Given the description of an element on the screen output the (x, y) to click on. 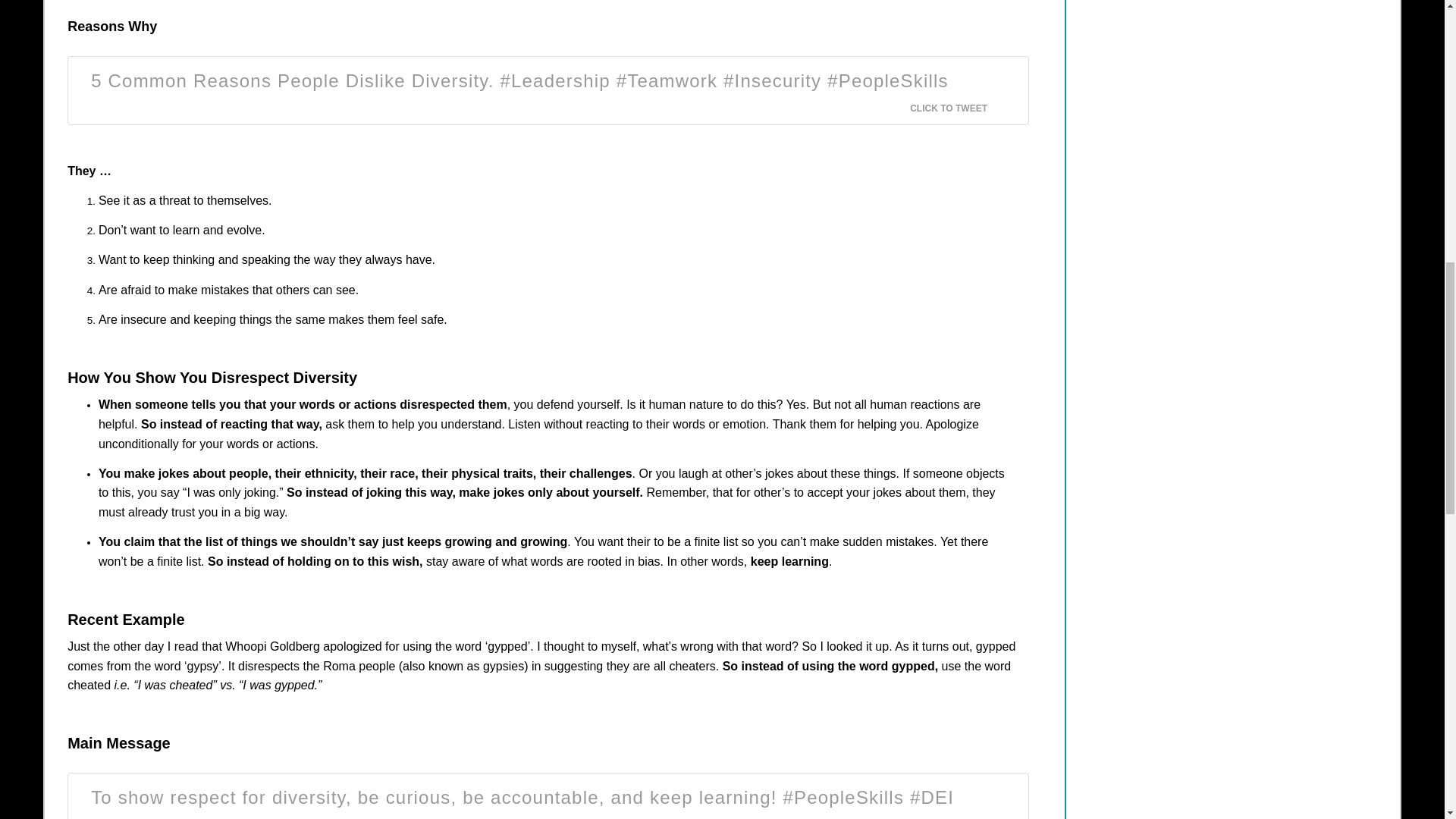
CLICK TO TWEET (958, 108)
